Given the description of an element on the screen output the (x, y) to click on. 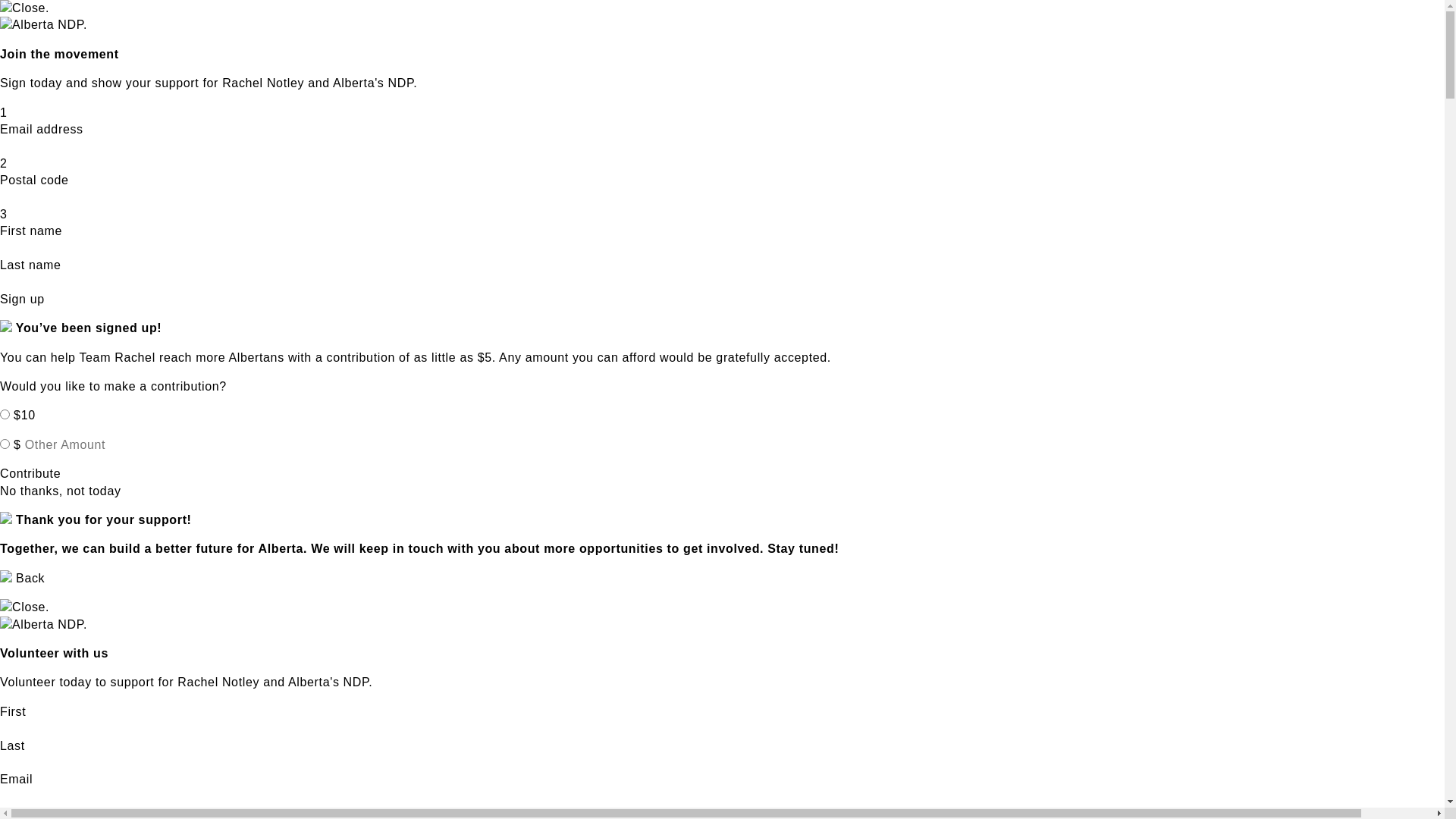
Sign up Element type: text (22, 298)
Back Element type: text (22, 577)
Contribute Element type: text (30, 473)
No thanks, not today Element type: text (60, 490)
